Given the description of an element on the screen output the (x, y) to click on. 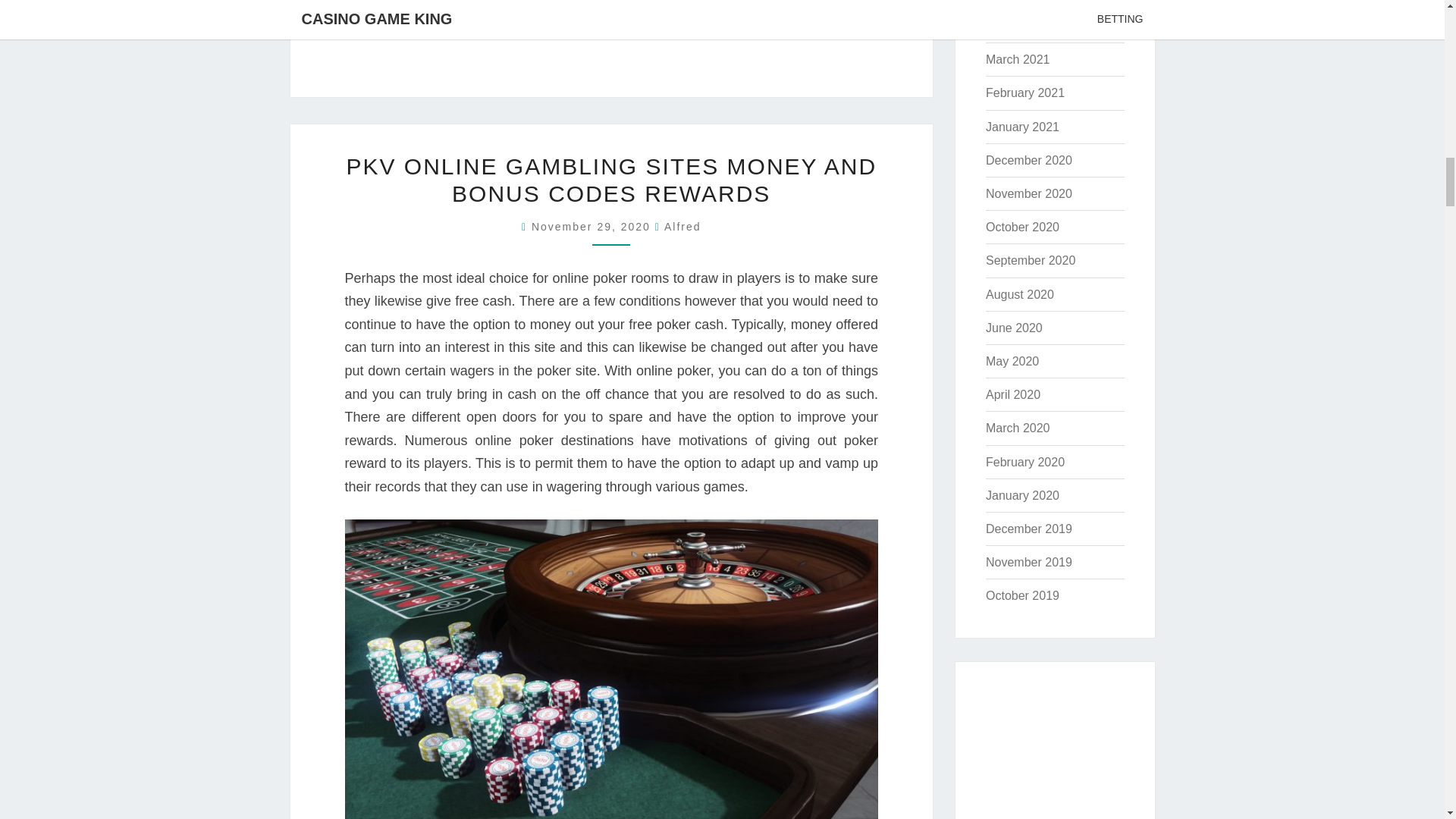
8:49 am (593, 226)
View all posts by Alfred (682, 226)
November 29, 2020 (593, 226)
PKV ONLINE GAMBLING SITES MONEY AND BONUS CODES REWARDS (611, 179)
Alfred (682, 226)
